Given the description of an element on the screen output the (x, y) to click on. 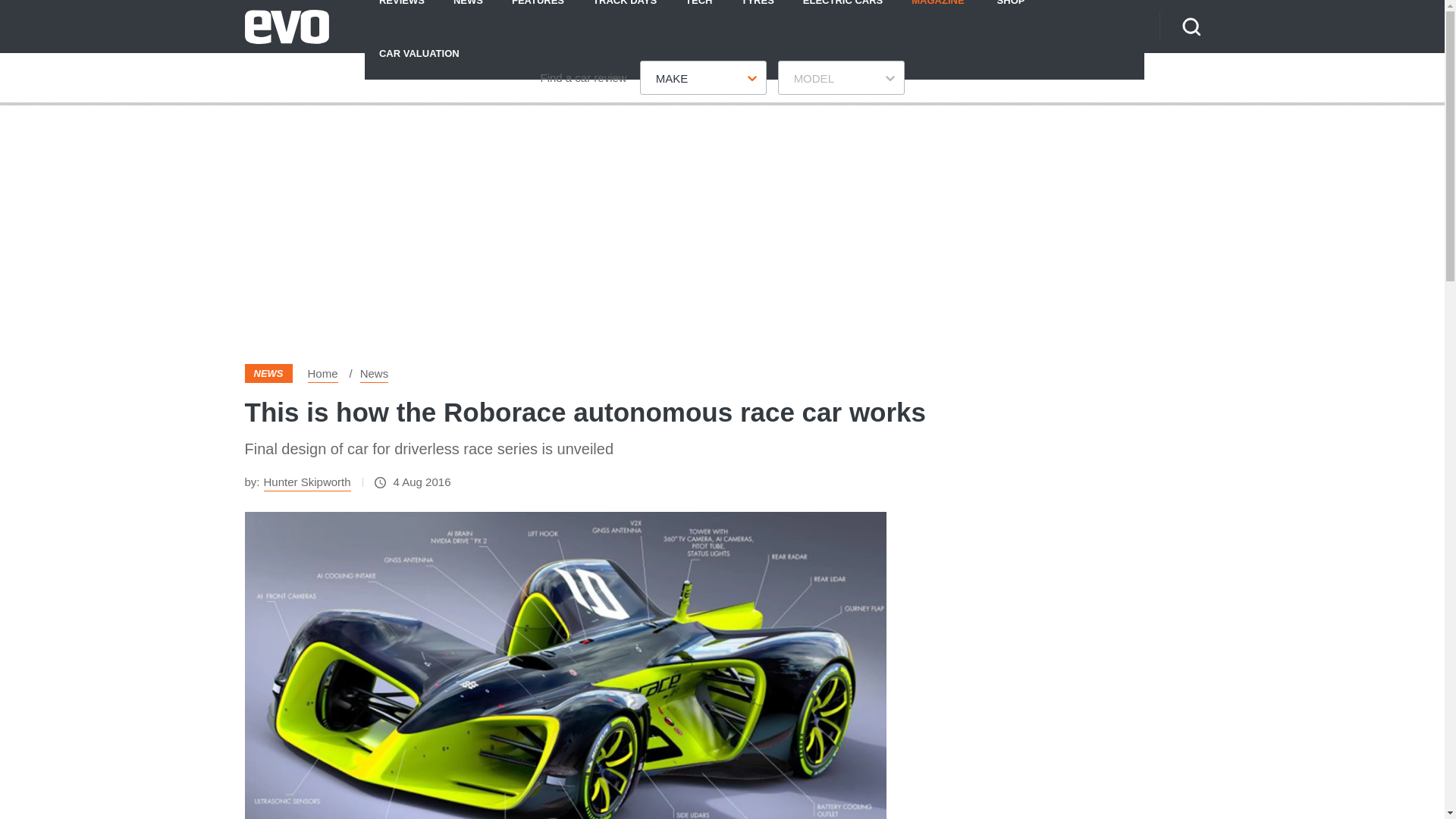
MAGAZINE (937, 13)
TECH (698, 13)
Search (1189, 26)
FEATURES (537, 13)
NEWS (468, 13)
REVIEWS (402, 13)
TRACK DAYS (624, 13)
ELECTRIC CARS (842, 13)
SHOP (1010, 13)
CAR VALUATION (419, 52)
